Given the description of an element on the screen output the (x, y) to click on. 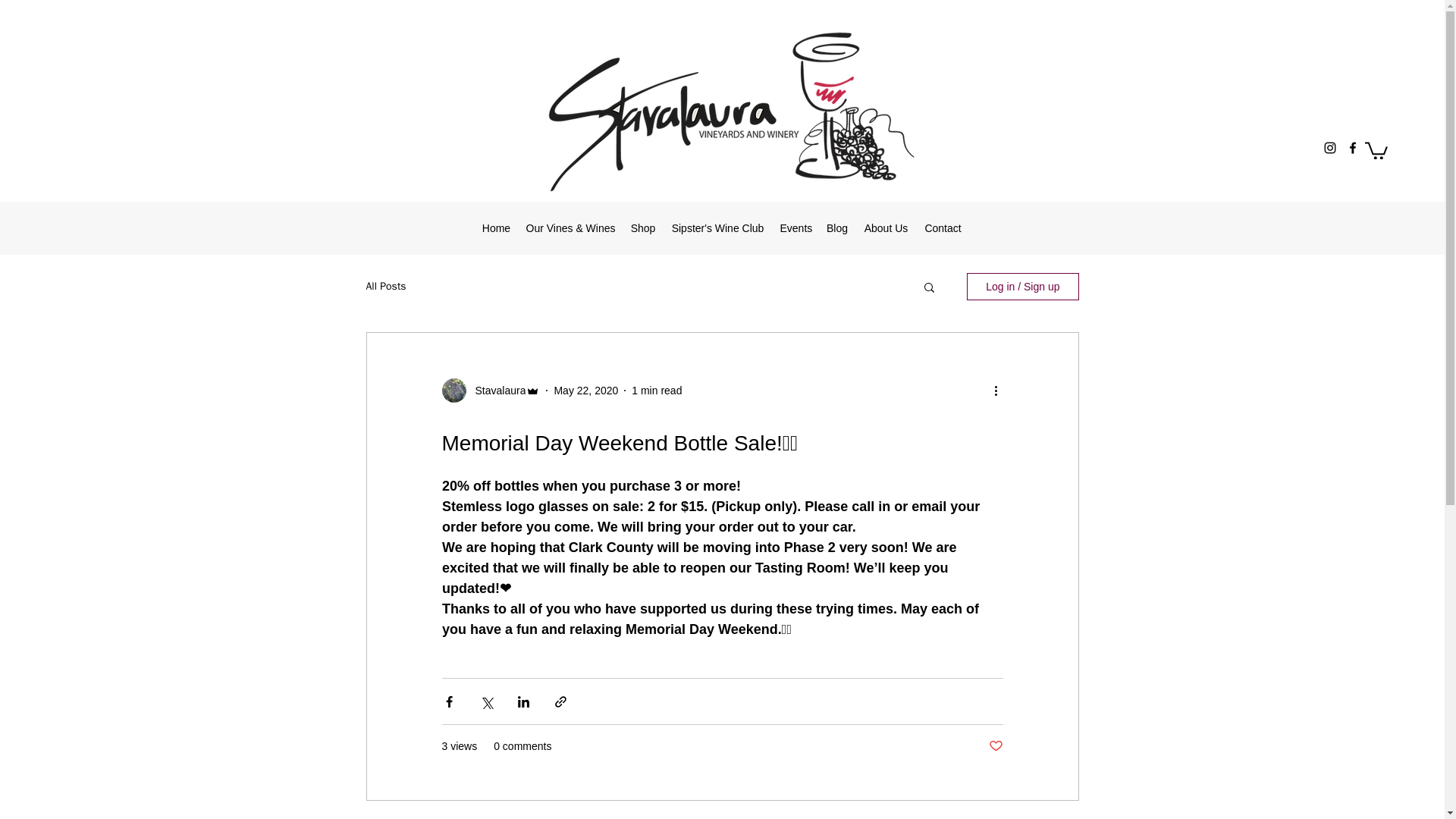
Shop (643, 228)
Blog (837, 228)
About Us (885, 228)
Home (496, 228)
Contact (942, 228)
1 min read (656, 390)
Post not marked as liked (995, 746)
May 22, 2020 (585, 390)
All Posts (385, 286)
Events (794, 228)
Stavalaura (495, 390)
Sipster's Wine Club (716, 228)
